Given the description of an element on the screen output the (x, y) to click on. 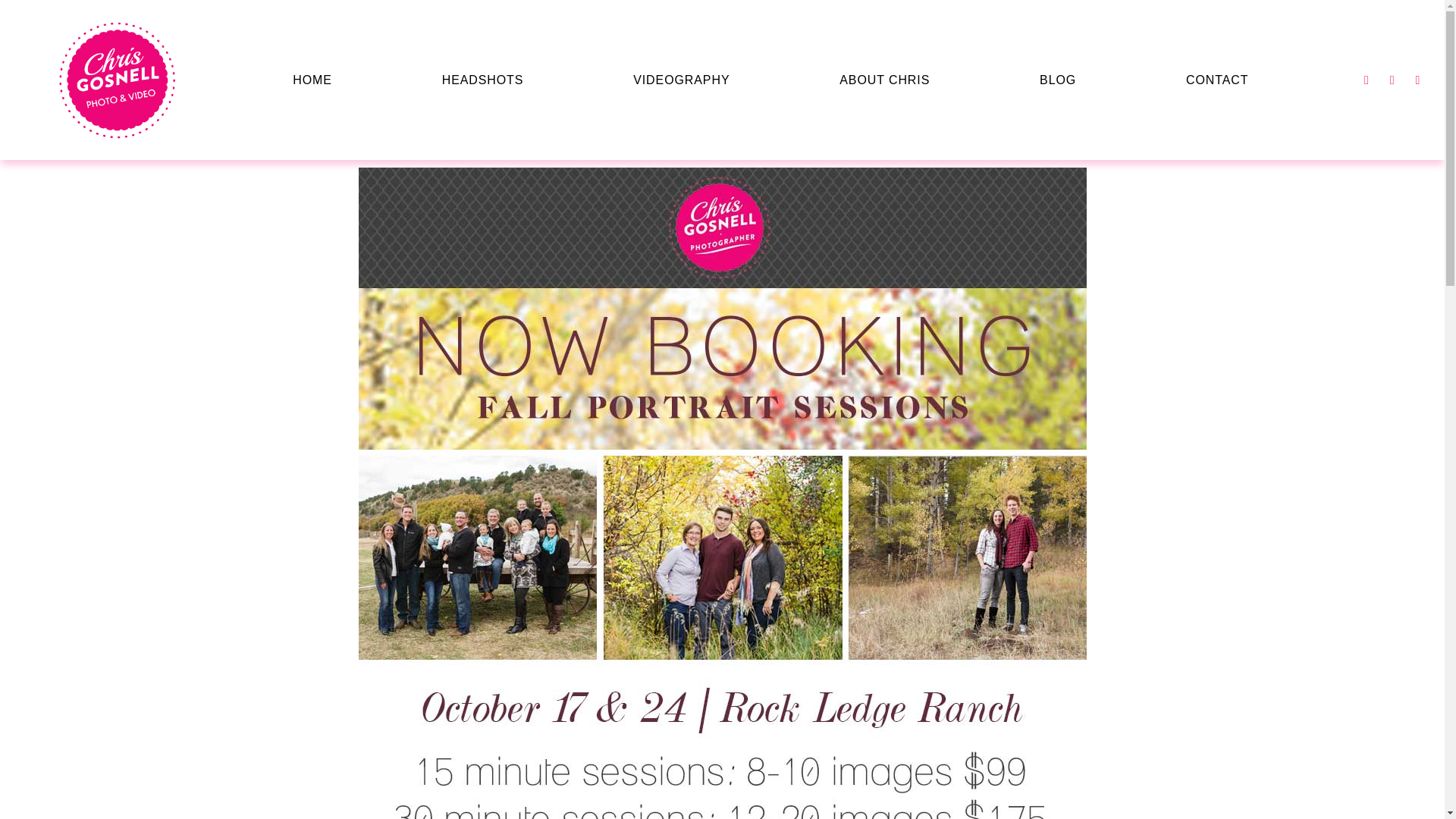
HEADSHOTS (482, 80)
BLOG (1058, 80)
ABOUT CHRIS (884, 80)
HOME (312, 80)
VIDEOGRAPHY (681, 80)
CONTACT (1217, 80)
